Given the description of an element on the screen output the (x, y) to click on. 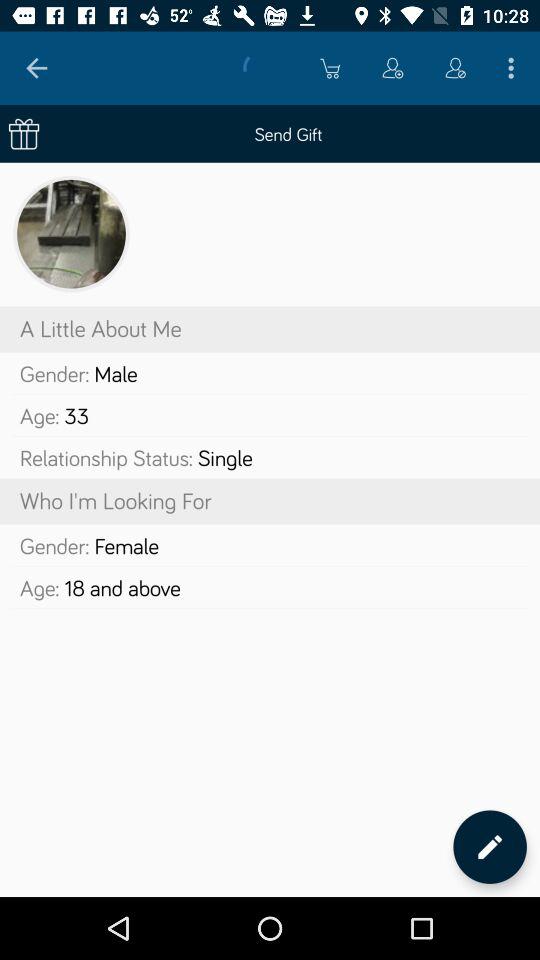
turn off the item at the bottom right corner (489, 846)
